Given the description of an element on the screen output the (x, y) to click on. 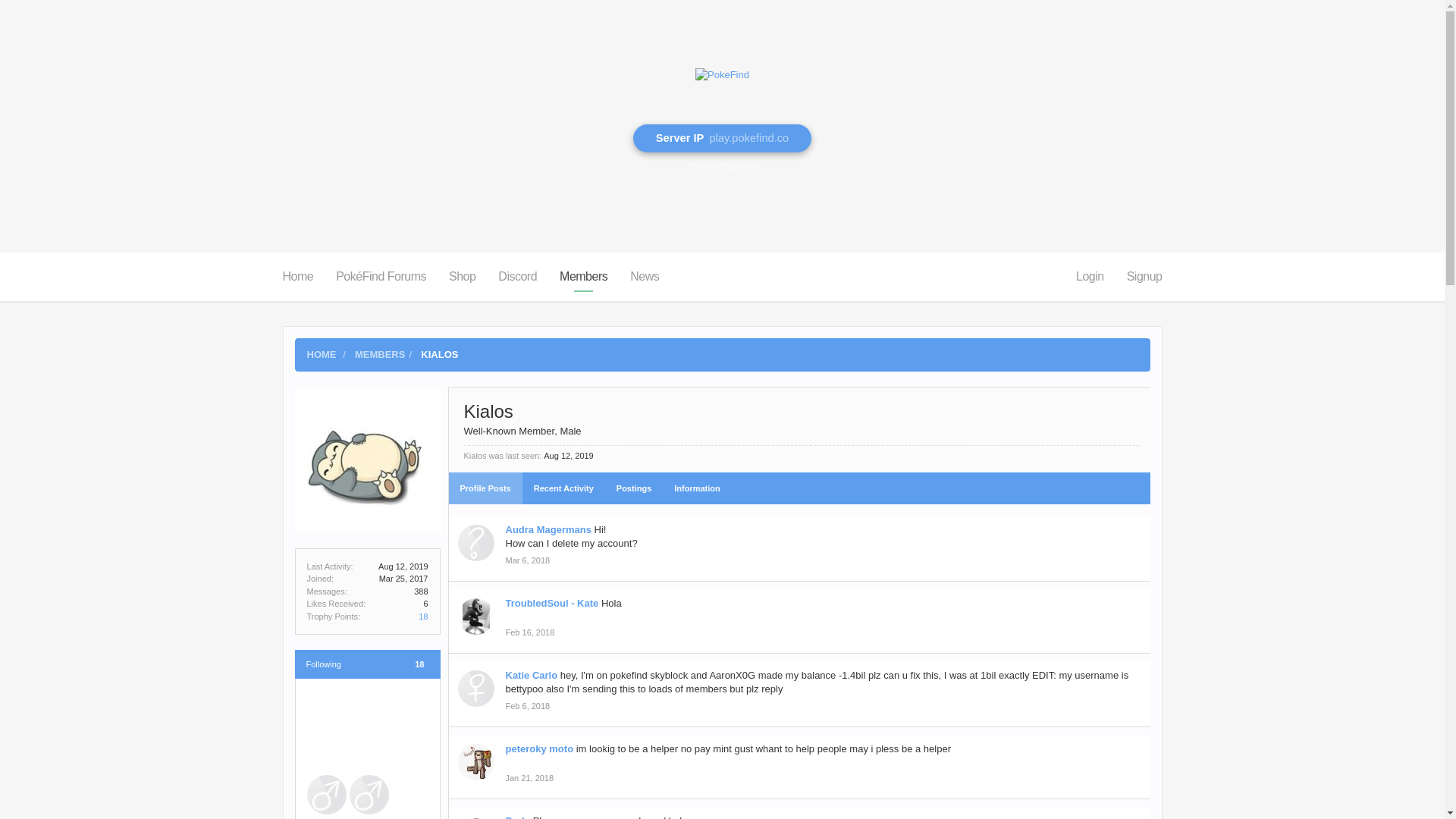
Discord (517, 276)
Kialos is following 18 members. (366, 664)
Feb 6, 2018 at 12:06 PM (527, 705)
Mar 6, 2018 at 11:29 PM (527, 560)
Permalink (527, 706)
Home (297, 276)
Anouck1 (325, 709)
KIALOS (439, 354)
Information (697, 488)
Permalink (529, 777)
